Given the description of an element on the screen output the (x, y) to click on. 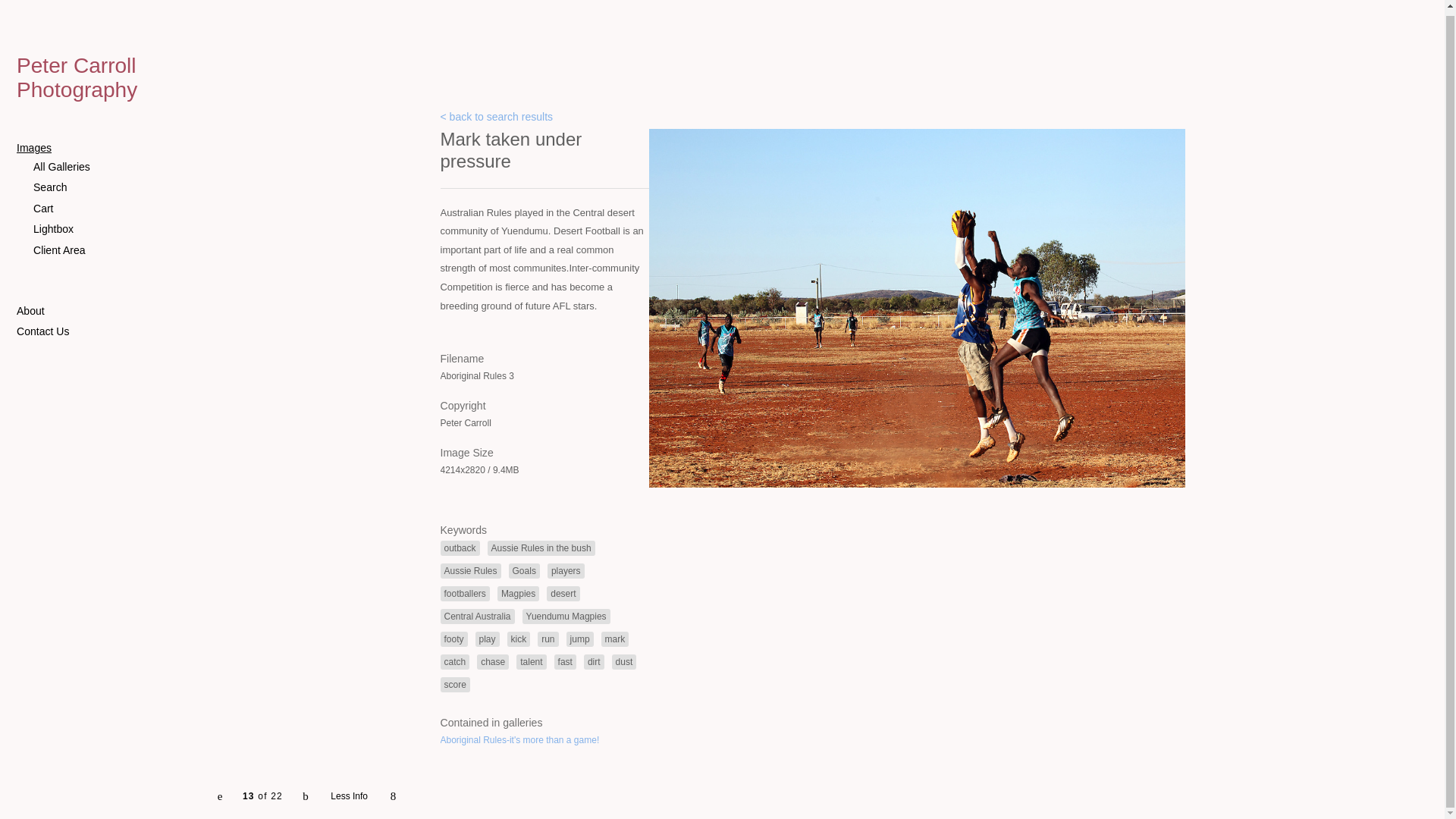
dust (624, 661)
Central Australia (476, 616)
Search (106, 187)
mark (614, 639)
players (566, 570)
Aboriginal Rules-it's more than a game! (518, 739)
score (453, 684)
catch (453, 661)
Share This (391, 791)
Goals (524, 570)
